Given the description of an element on the screen output the (x, y) to click on. 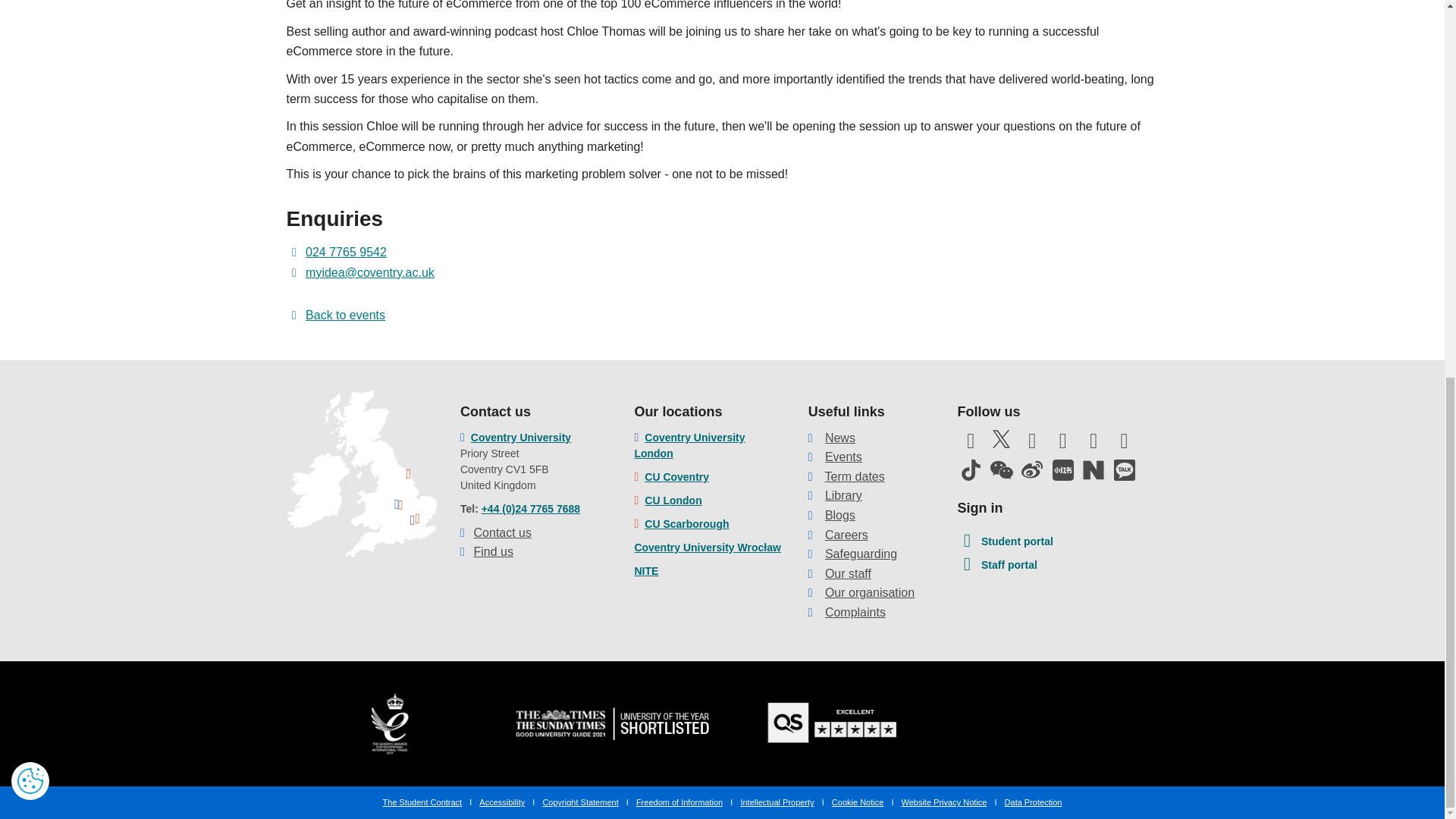
Our staff (847, 573)
Follow us on Instagram (1063, 444)
Follow us on TikTok (970, 469)
Term dates (855, 476)
Our organisation (869, 592)
QS Five Star Rating 2023 (832, 723)
Complaints (855, 612)
Blogs (840, 514)
Add us on Snapchat (1124, 444)
Library (843, 495)
Subscribe to our YouTube Channel (1031, 444)
Events (843, 456)
Connect with us on Linkedin (1093, 444)
News (840, 437)
Staff portal website (996, 565)
